Given the description of an element on the screen output the (x, y) to click on. 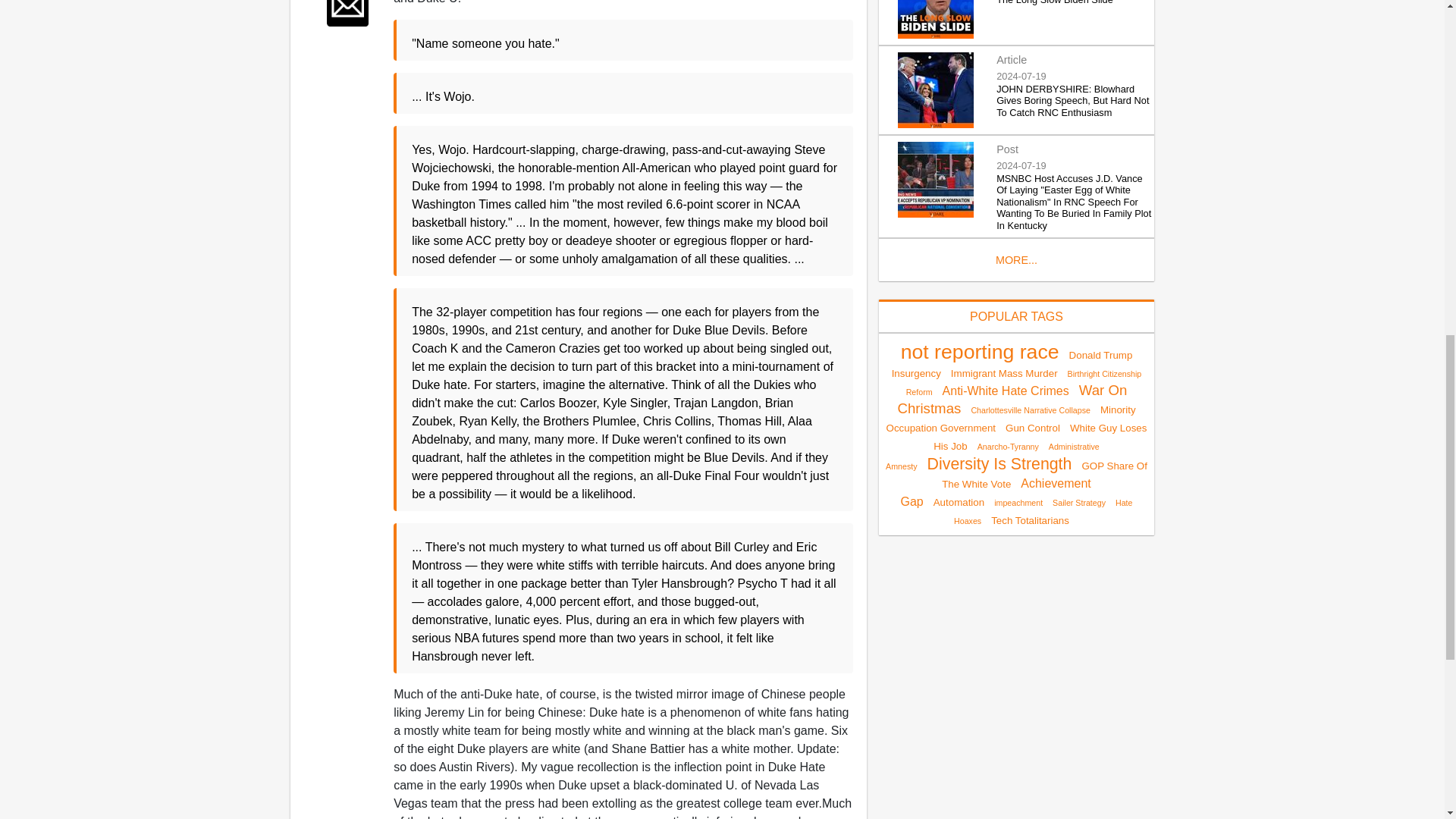
Share to Email (347, 13)
